Given the description of an element on the screen output the (x, y) to click on. 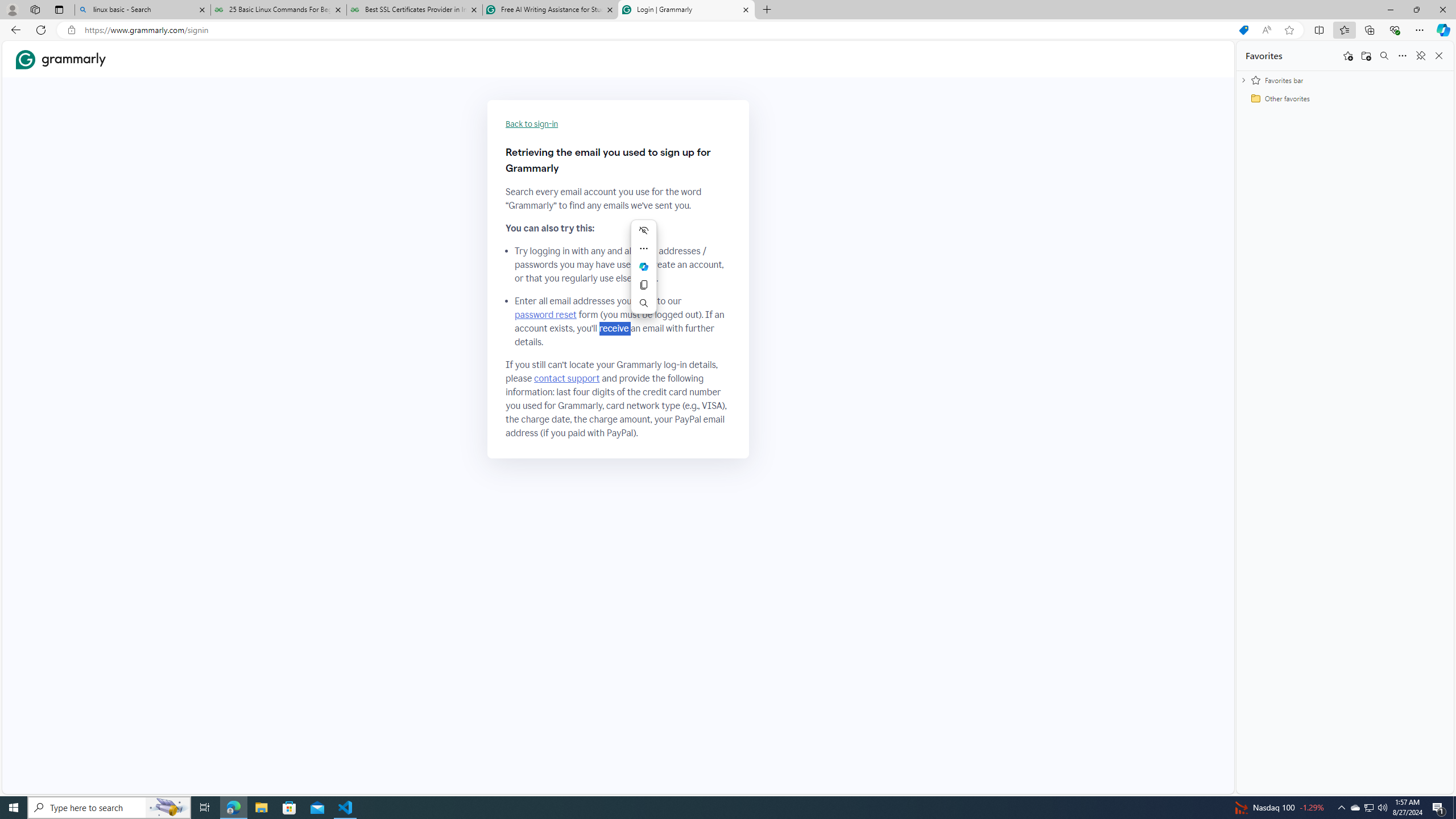
Add folder (1366, 55)
Hide menu (643, 230)
Ask Copilot (643, 266)
Login | Grammarly (685, 9)
Grammarly Home (61, 58)
